Given the description of an element on the screen output the (x, y) to click on. 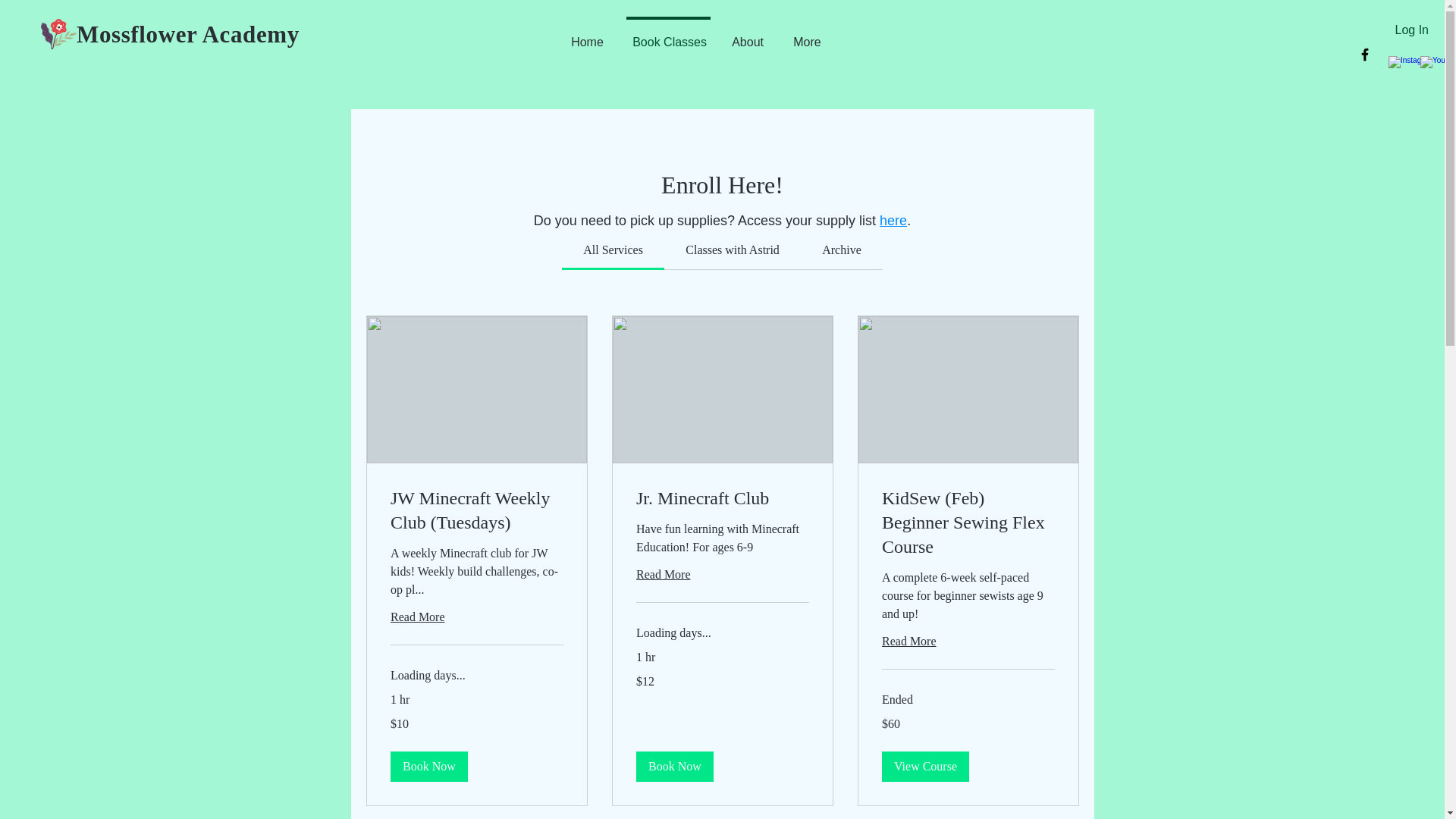
View Course (924, 766)
here (893, 220)
Read More (476, 617)
About (747, 35)
Read More (967, 641)
Home (587, 35)
Book Classes (667, 35)
Read More (721, 574)
Mossflower Academy (188, 34)
Book Now (428, 766)
Log In (1411, 30)
Jr. Minecraft Club (721, 498)
Book Now (673, 766)
